Given the description of an element on the screen output the (x, y) to click on. 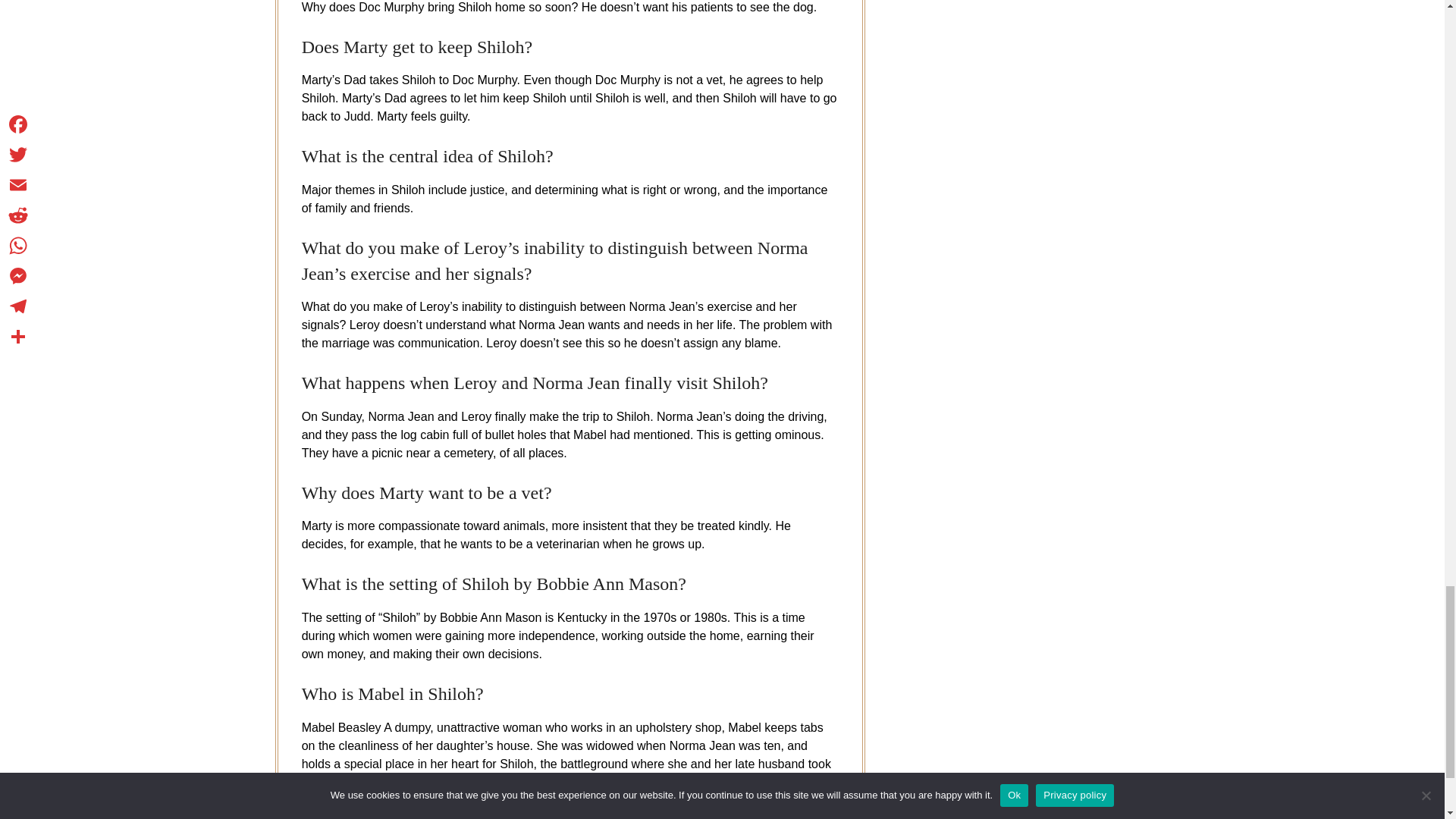
Facebook (316, 814)
Telegram (498, 814)
Messenger (467, 814)
Reddit (408, 814)
Email (377, 814)
Twitter (346, 814)
Email (377, 814)
Telegram (498, 814)
Facebook (316, 814)
Messenger (467, 814)
